Given the description of an element on the screen output the (x, y) to click on. 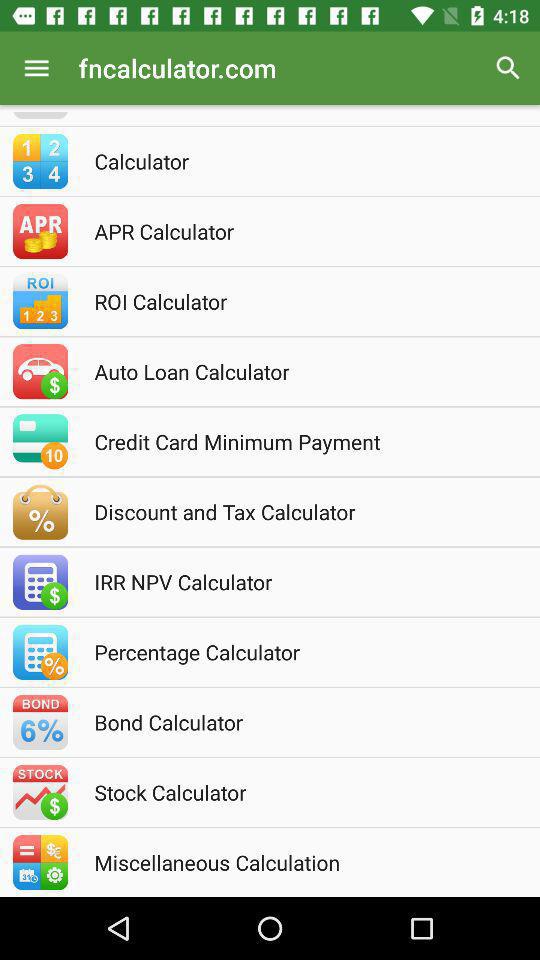
launch the app to the left of fncalculator.com app (36, 68)
